Given the description of an element on the screen output the (x, y) to click on. 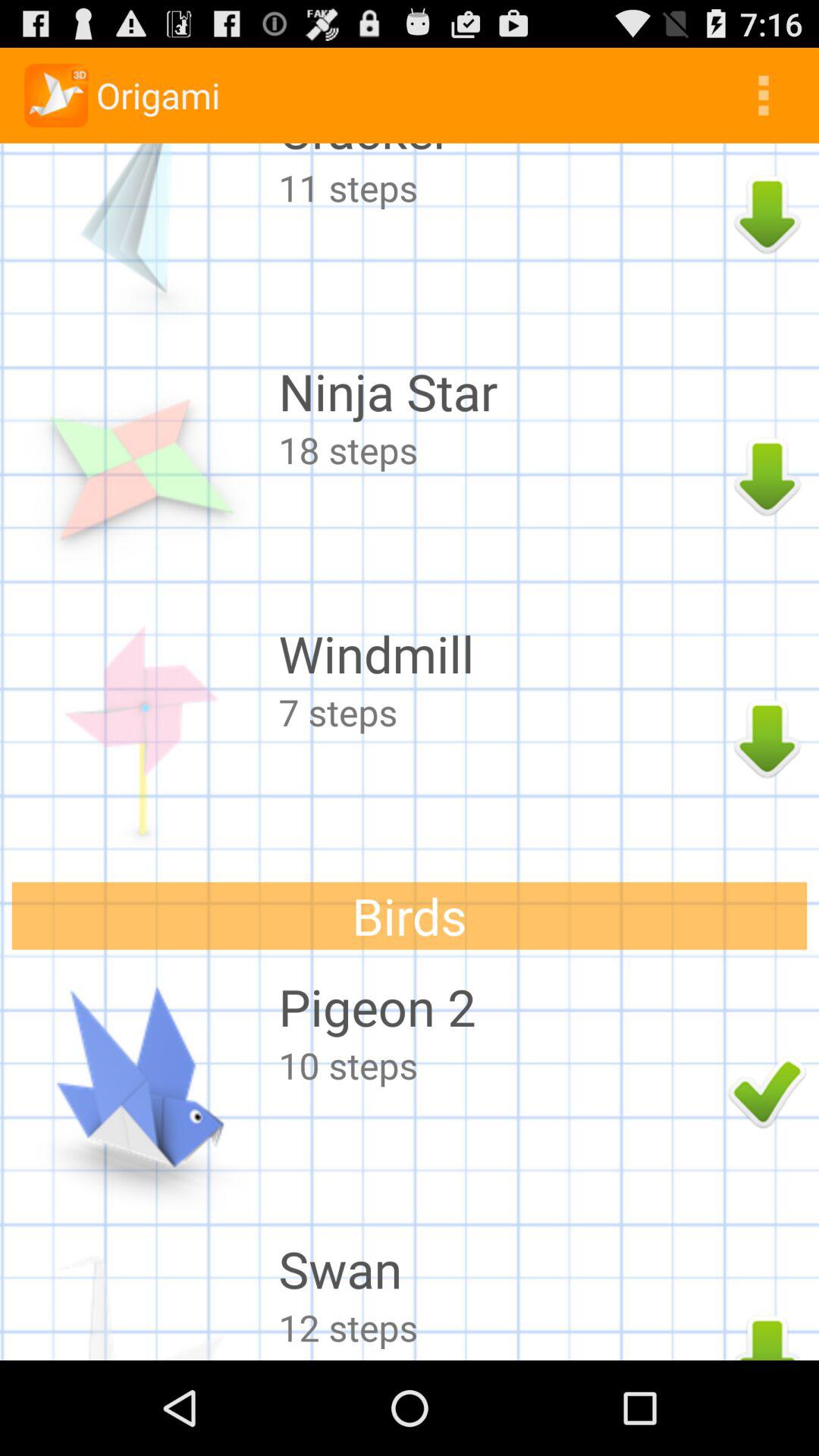
tap icon above the windmill (498, 449)
